Given the description of an element on the screen output the (x, y) to click on. 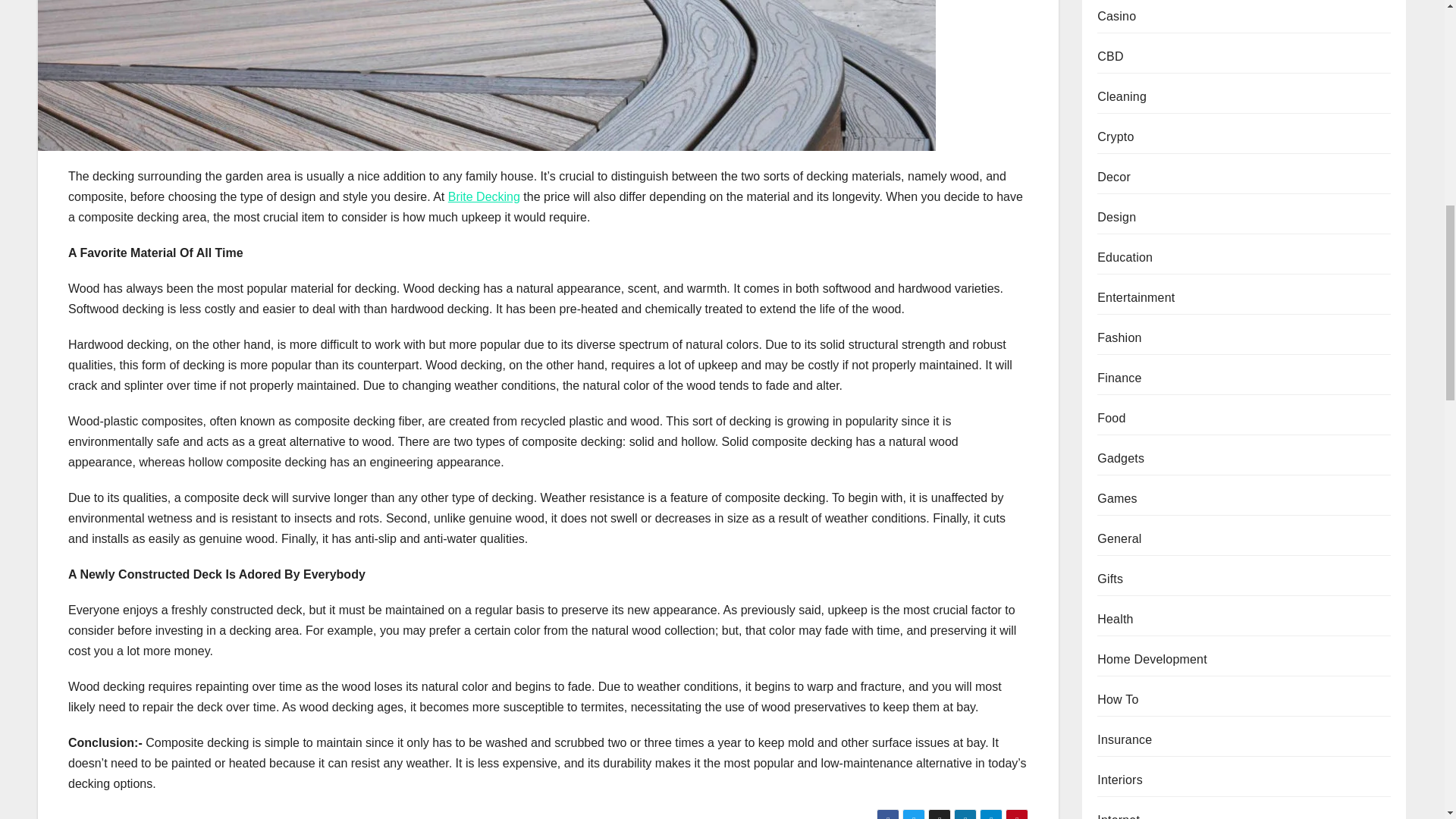
Brite Decking (483, 196)
